Given the description of an element on the screen output the (x, y) to click on. 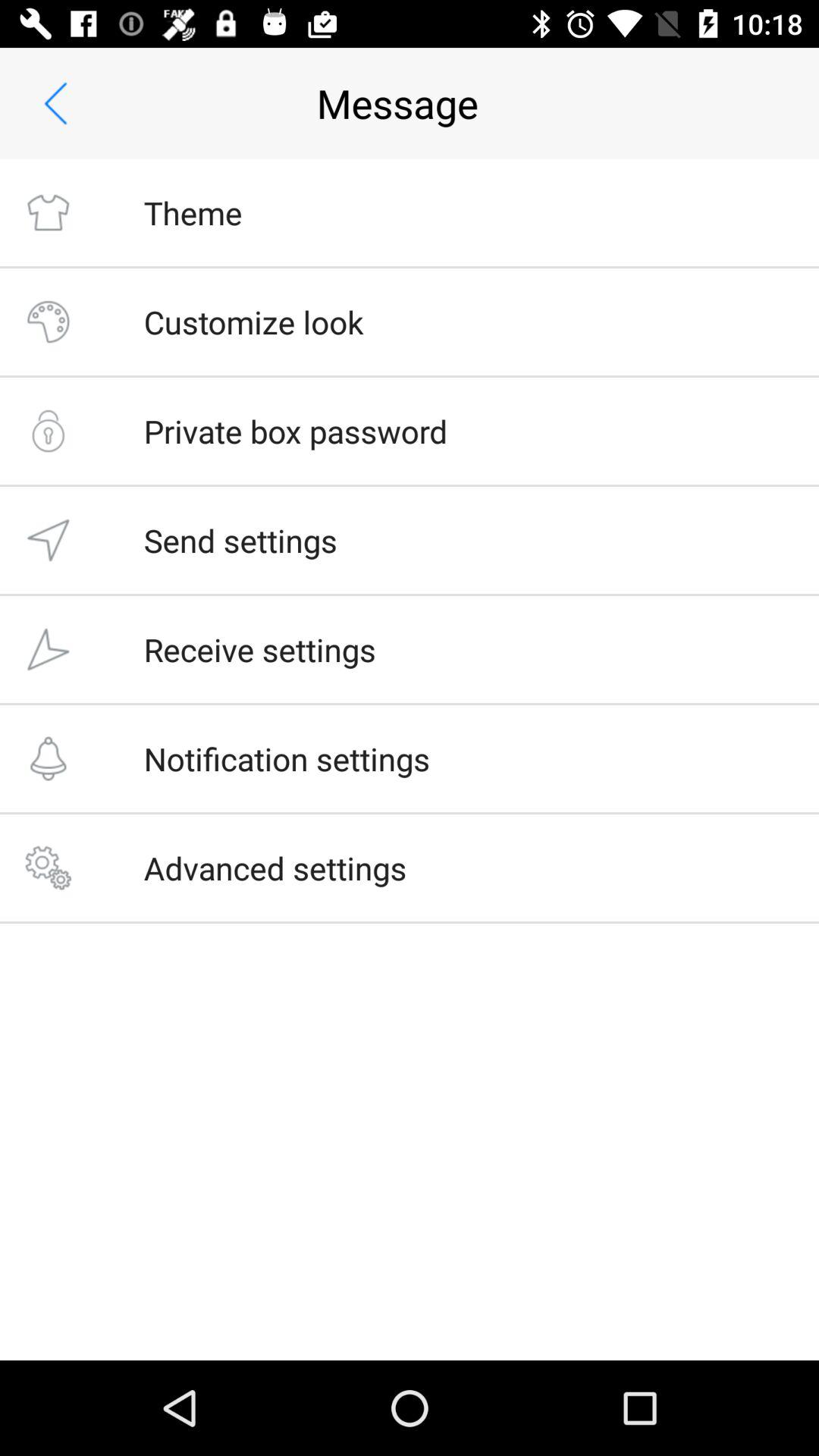
turn on icon above the private box password (253, 321)
